Given the description of an element on the screen output the (x, y) to click on. 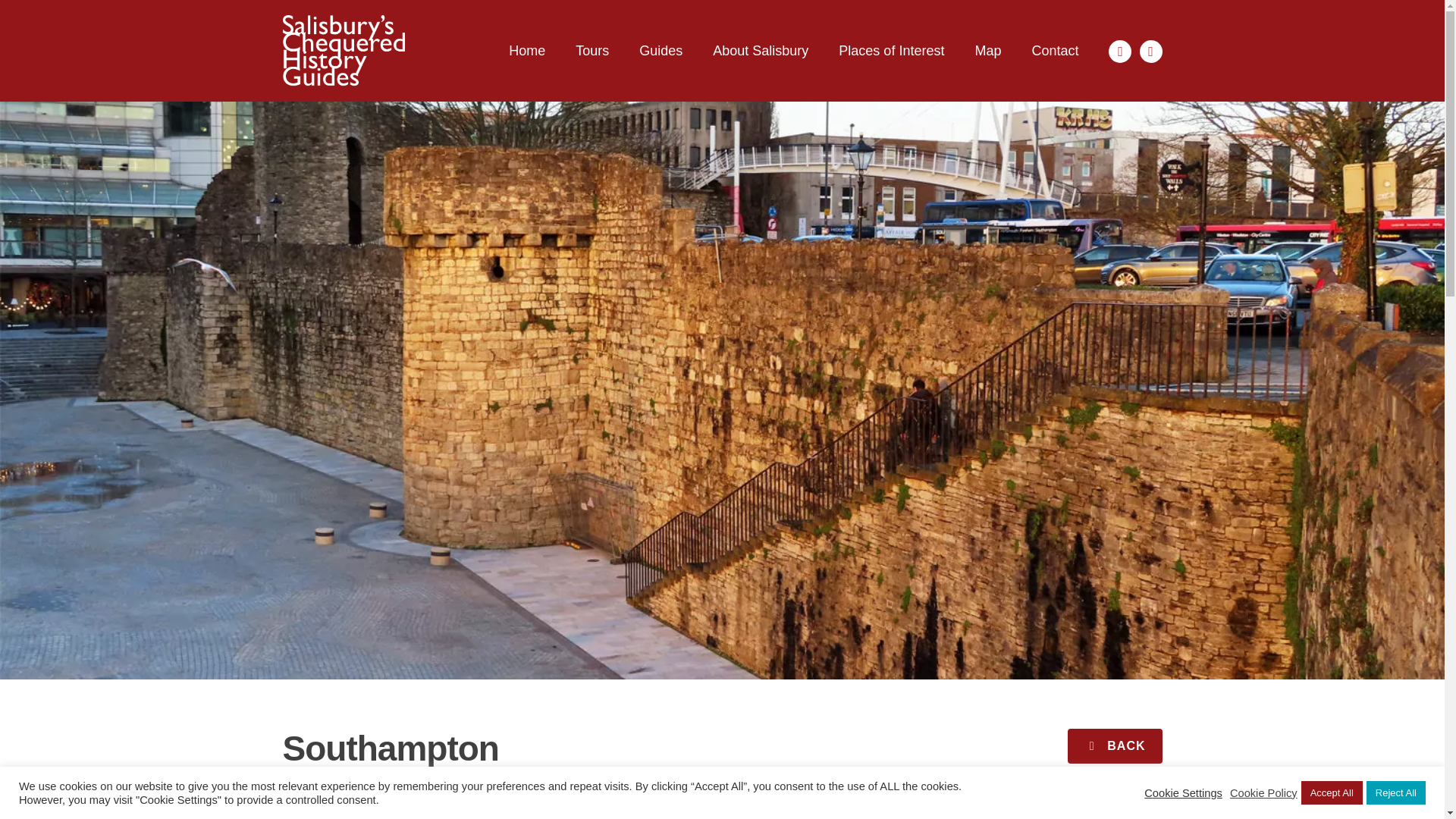
Salisbury's Chequered History Guides (343, 50)
Contact (1054, 51)
Places of Interest (890, 51)
Map (987, 51)
Home (526, 51)
About Salisbury (760, 51)
Tours (591, 51)
Guides (660, 51)
BACK (1114, 745)
